Given the description of an element on the screen output the (x, y) to click on. 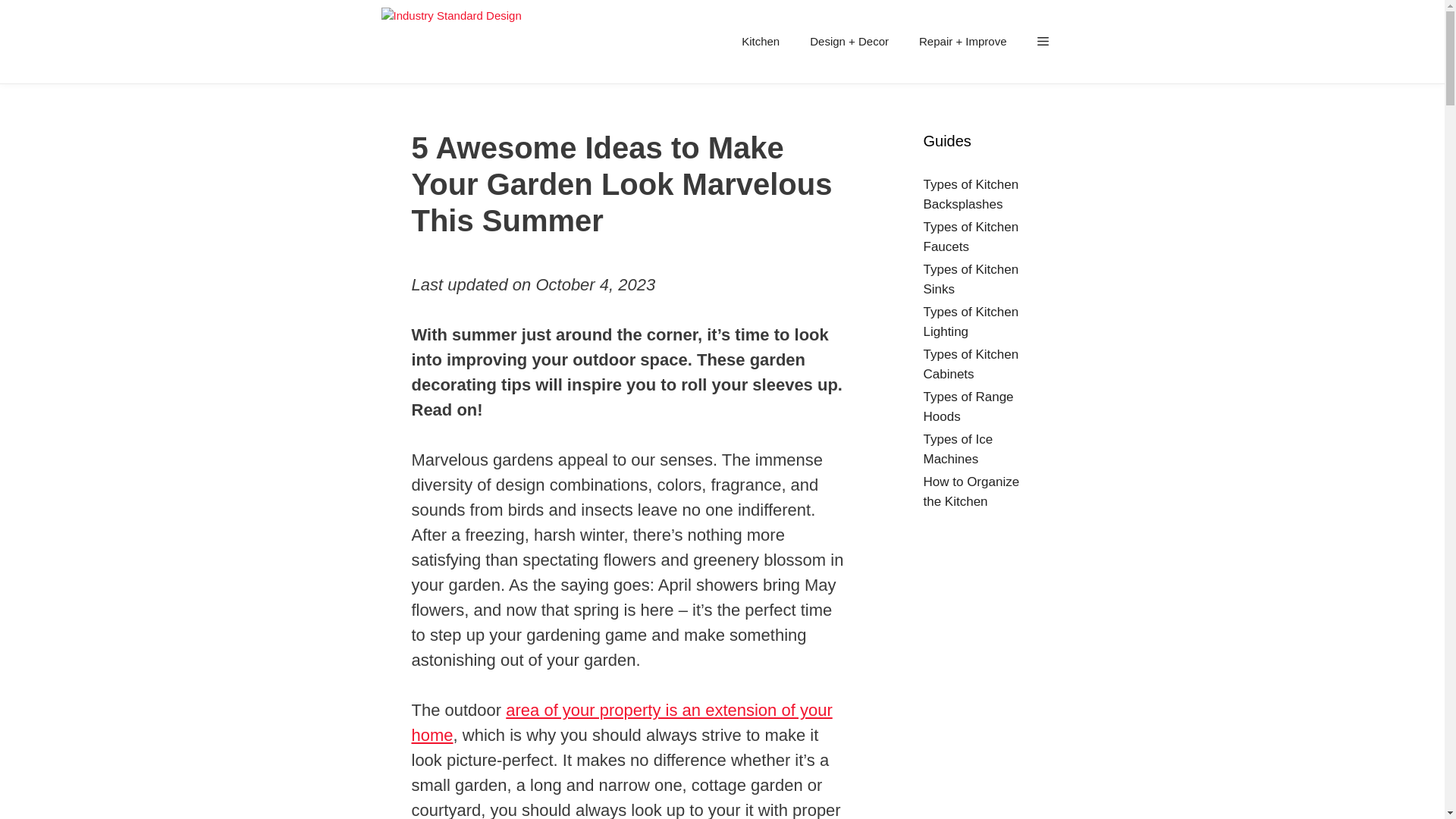
Industry Standard Design (450, 41)
Types of Kitchen Faucets (971, 236)
Types of Kitchen Backsplashes (971, 194)
Industry Standard Design (454, 41)
Kitchen (760, 41)
area of your property is an extension of your home (620, 722)
